Given the description of an element on the screen output the (x, y) to click on. 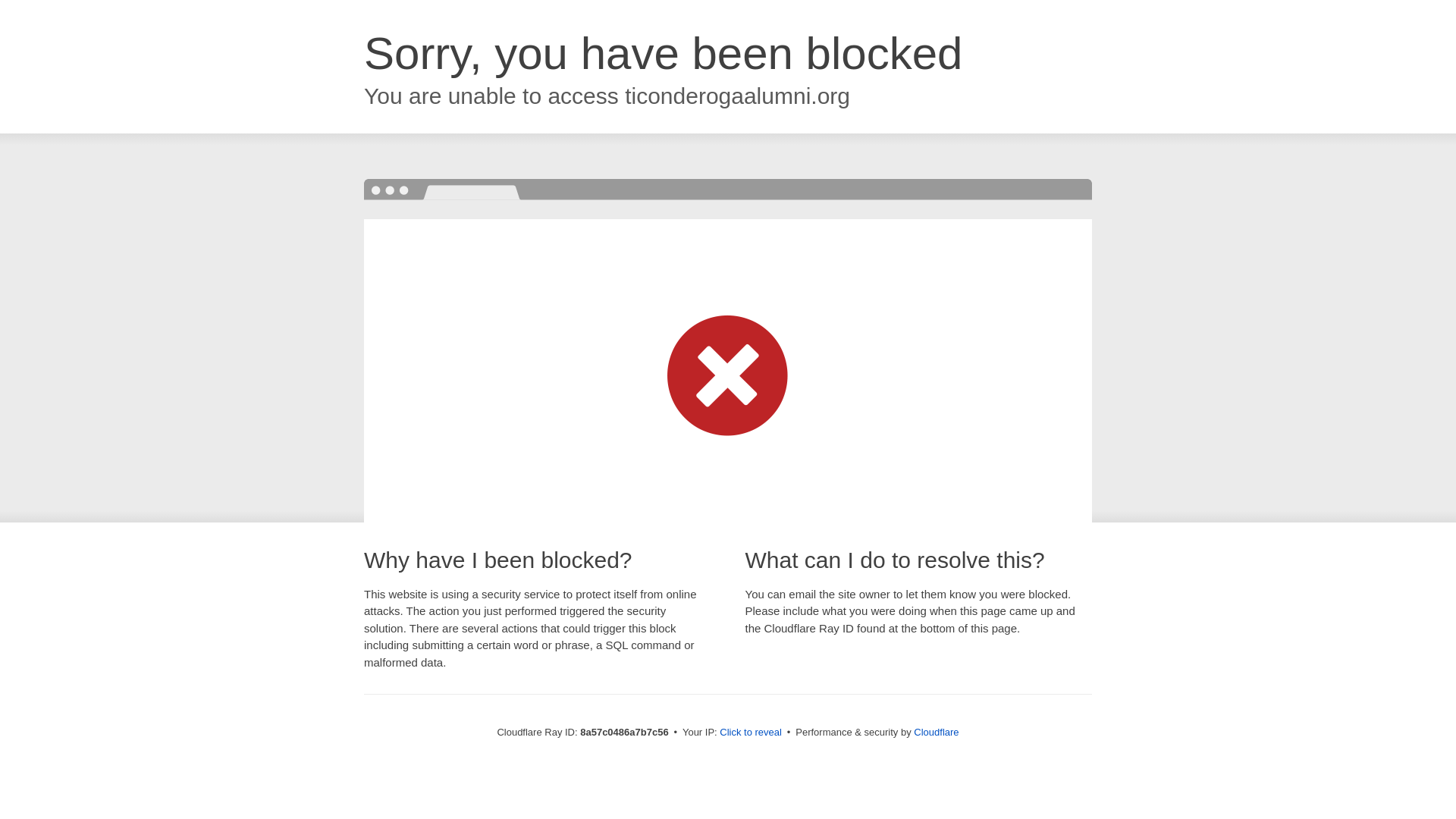
Cloudflare (936, 731)
Click to reveal (750, 732)
